Given the description of an element on the screen output the (x, y) to click on. 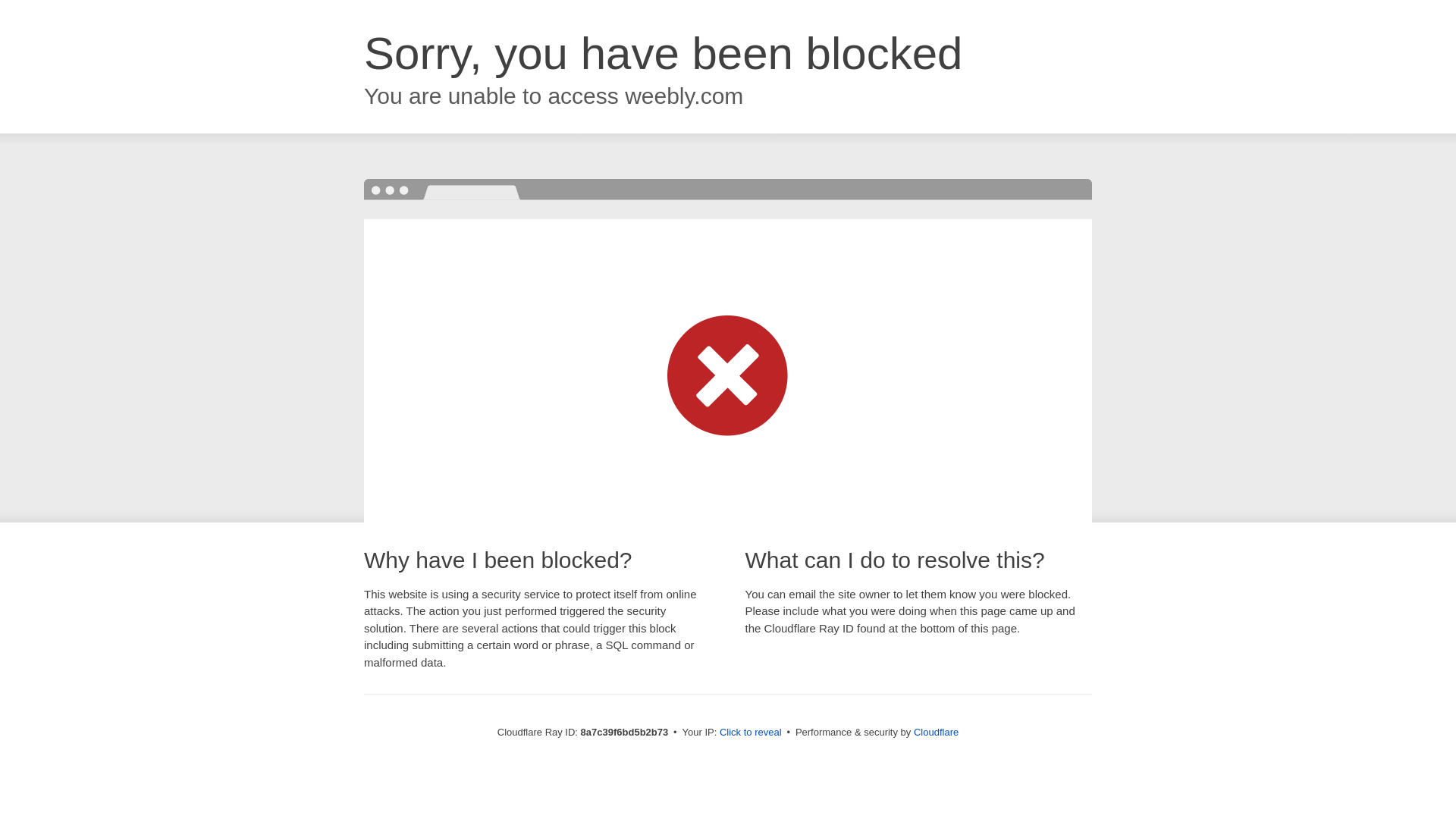
Cloudflare (936, 731)
Click to reveal (750, 732)
